Given the description of an element on the screen output the (x, y) to click on. 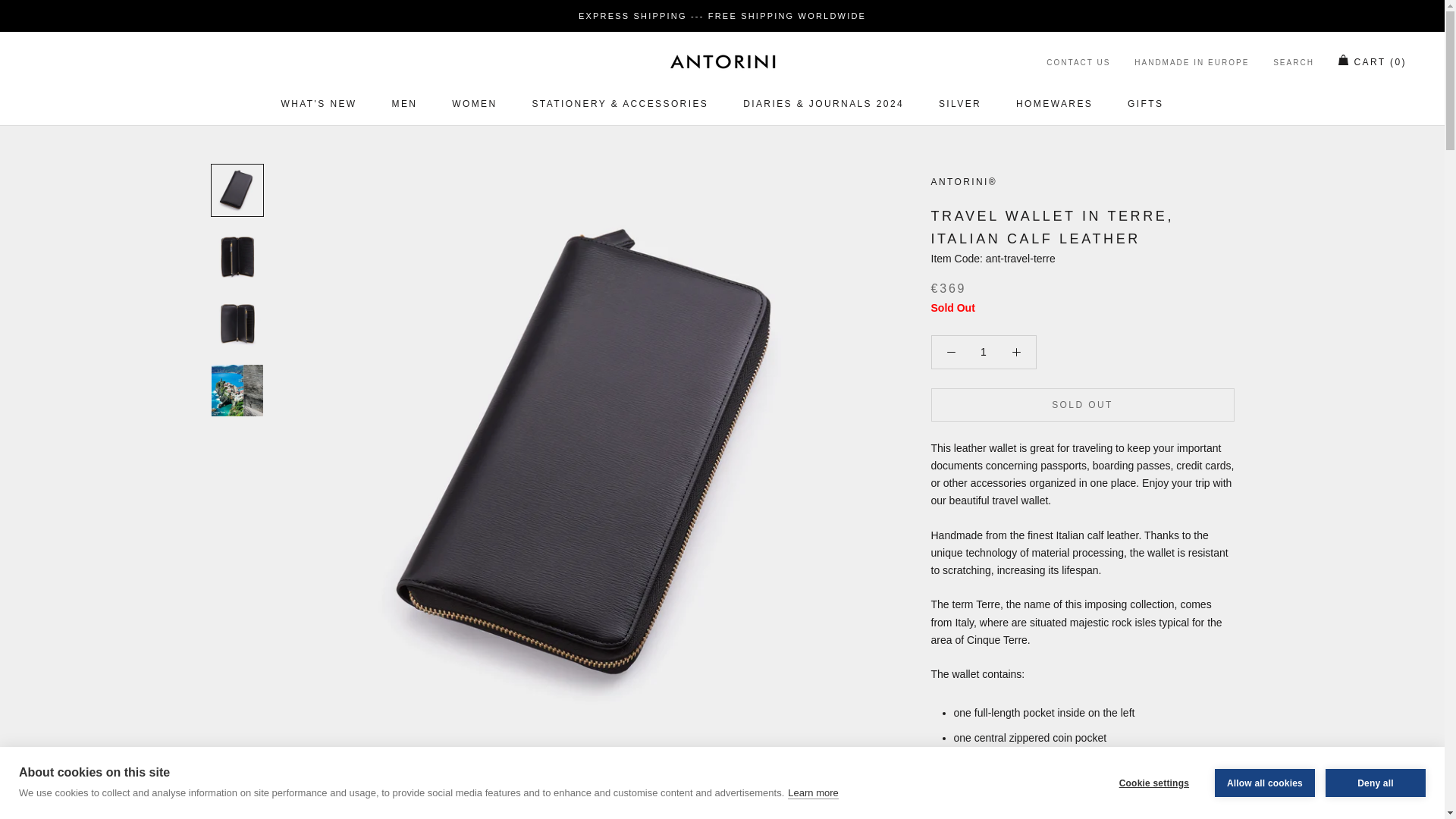
1 (984, 351)
Antorini (721, 60)
